Given the description of an element on the screen output the (x, y) to click on. 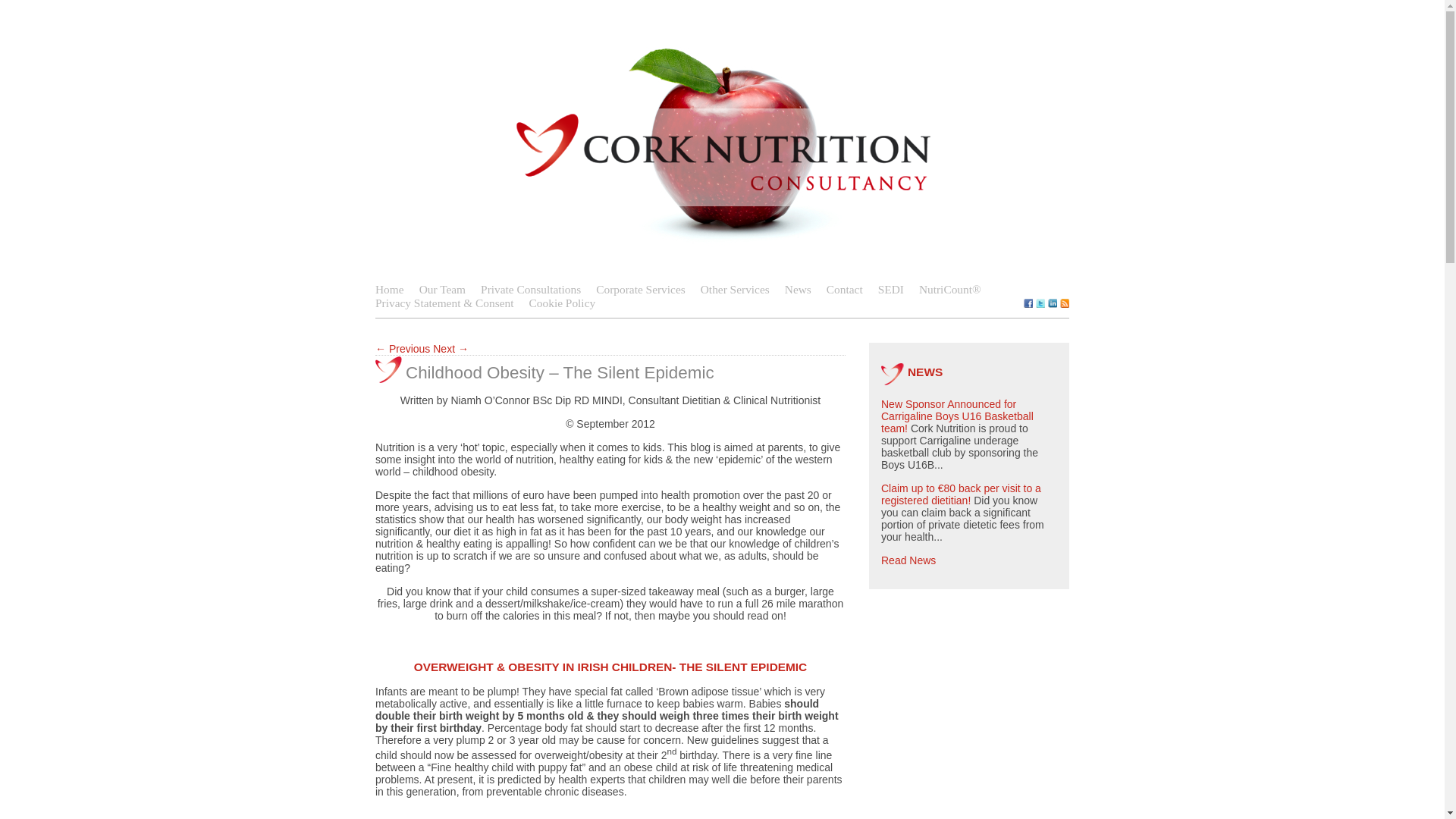
Contact (845, 288)
Cookie Policy (562, 302)
Home (389, 288)
Follow Us On Twitter (1040, 302)
Other Services (735, 288)
Private Consultations (530, 288)
Find Us On Facebook (1027, 302)
Find Us On LinkedIn (1052, 302)
Read News (908, 560)
News (797, 288)
